Given the description of an element on the screen output the (x, y) to click on. 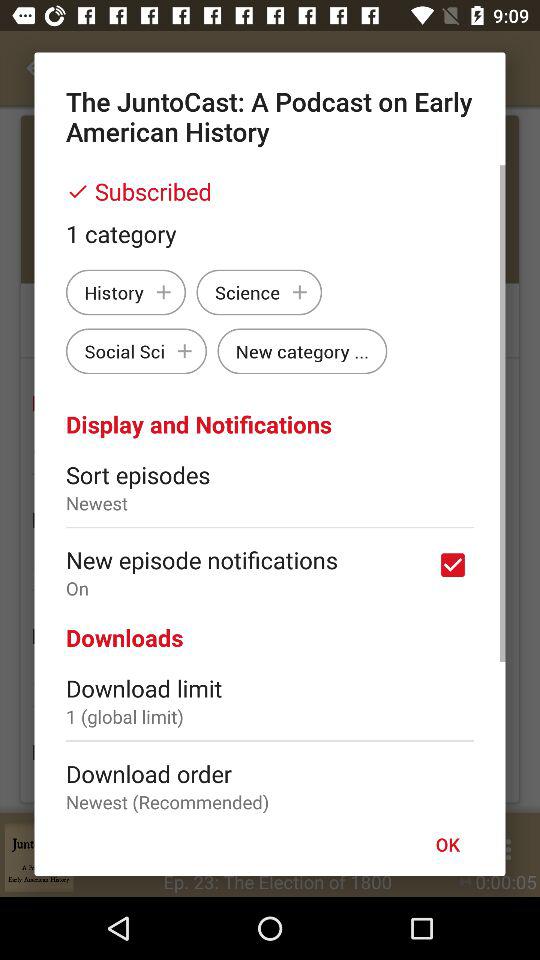
scroll until 1 category item (269, 233)
